Given the description of an element on the screen output the (x, y) to click on. 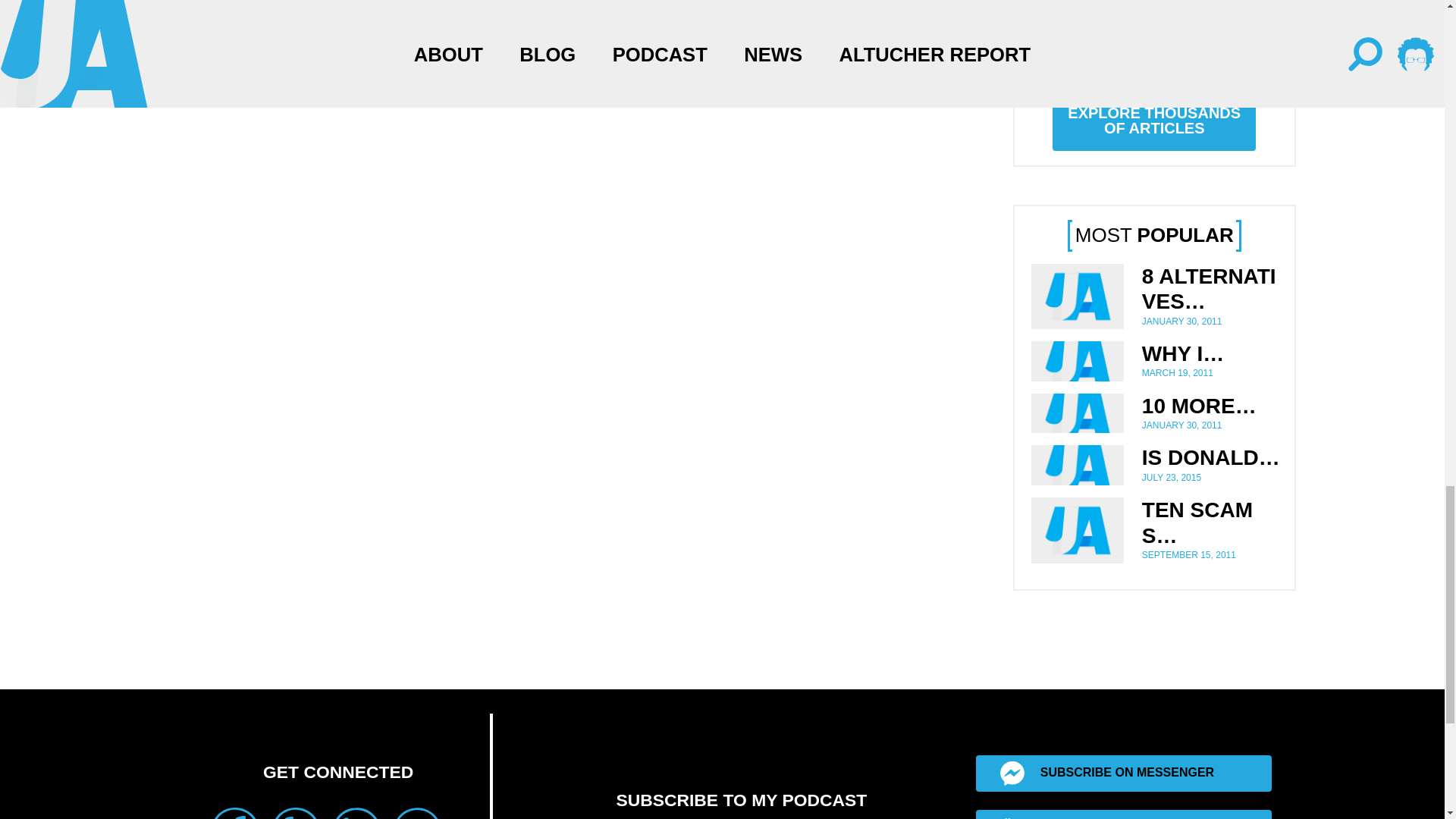
EXPLORE THOUSANDS OF ARTICLES (1153, 120)
